Given the description of an element on the screen output the (x, y) to click on. 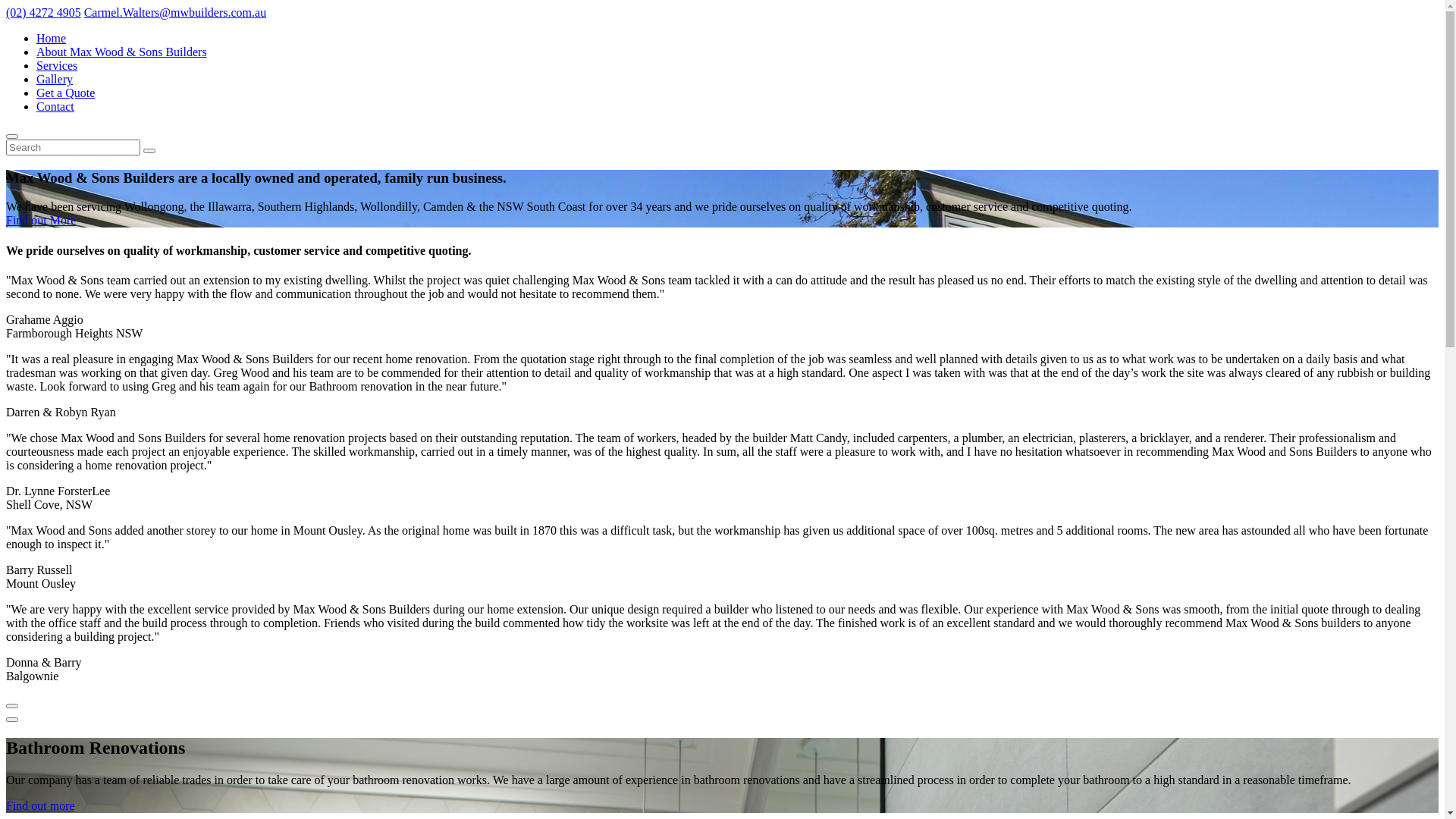
(02) 4272 4905 Element type: text (43, 12)
Contact Element type: text (55, 106)
Find out More Element type: text (40, 219)
Get a Quote Element type: text (65, 92)
Services Element type: text (56, 65)
About Max Wood & Sons Builders Element type: text (121, 51)
Gallery Element type: text (54, 78)
Carmel.Walters@mwbuilders.com.au Element type: text (175, 12)
Find out more Element type: text (40, 805)
Home Element type: text (50, 37)
